Given the description of an element on the screen output the (x, y) to click on. 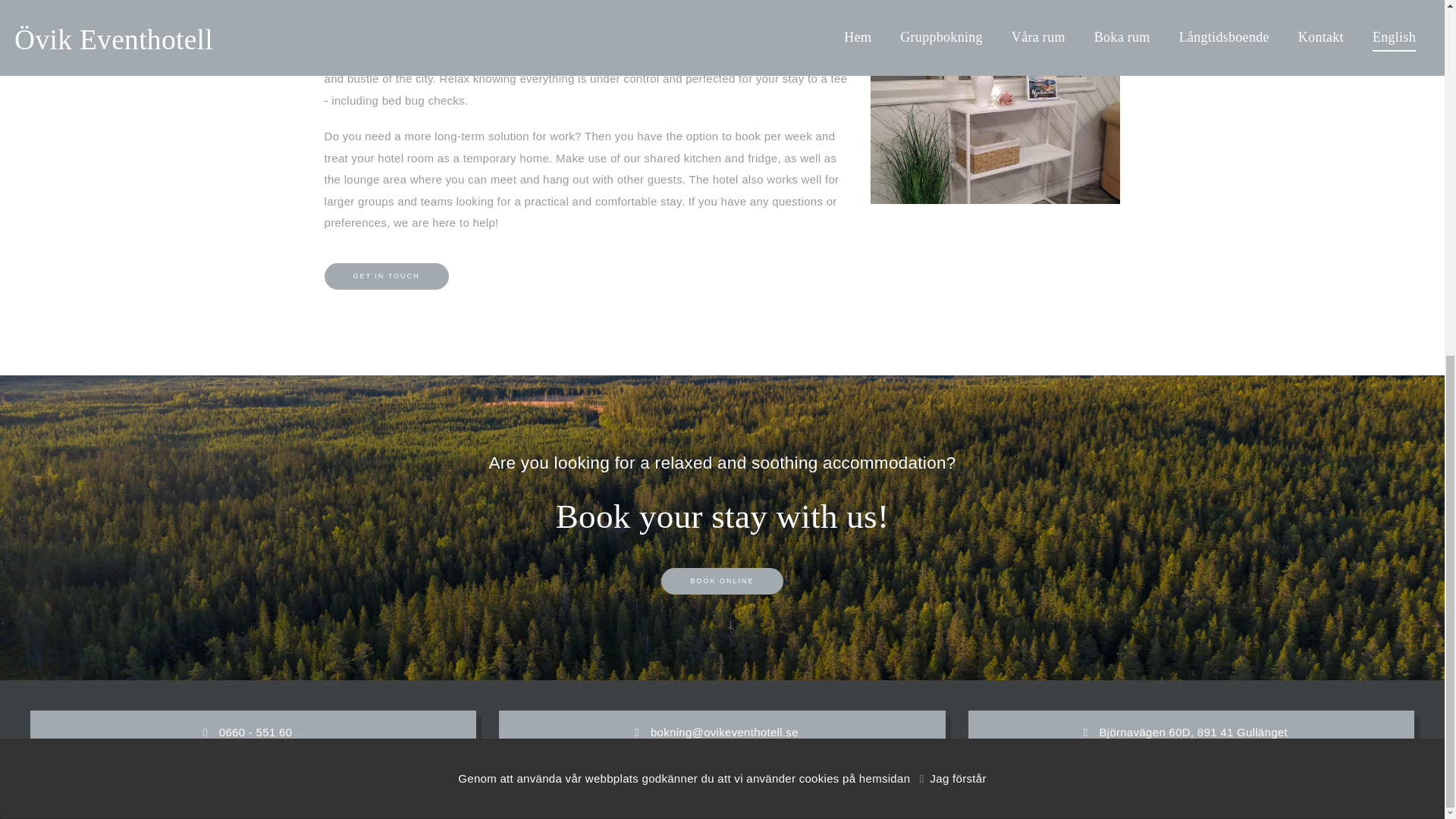
0660 - 551 60 (255, 732)
BOOK ONLINE (722, 580)
GET IN TOUCH (386, 275)
